Given the description of an element on the screen output the (x, y) to click on. 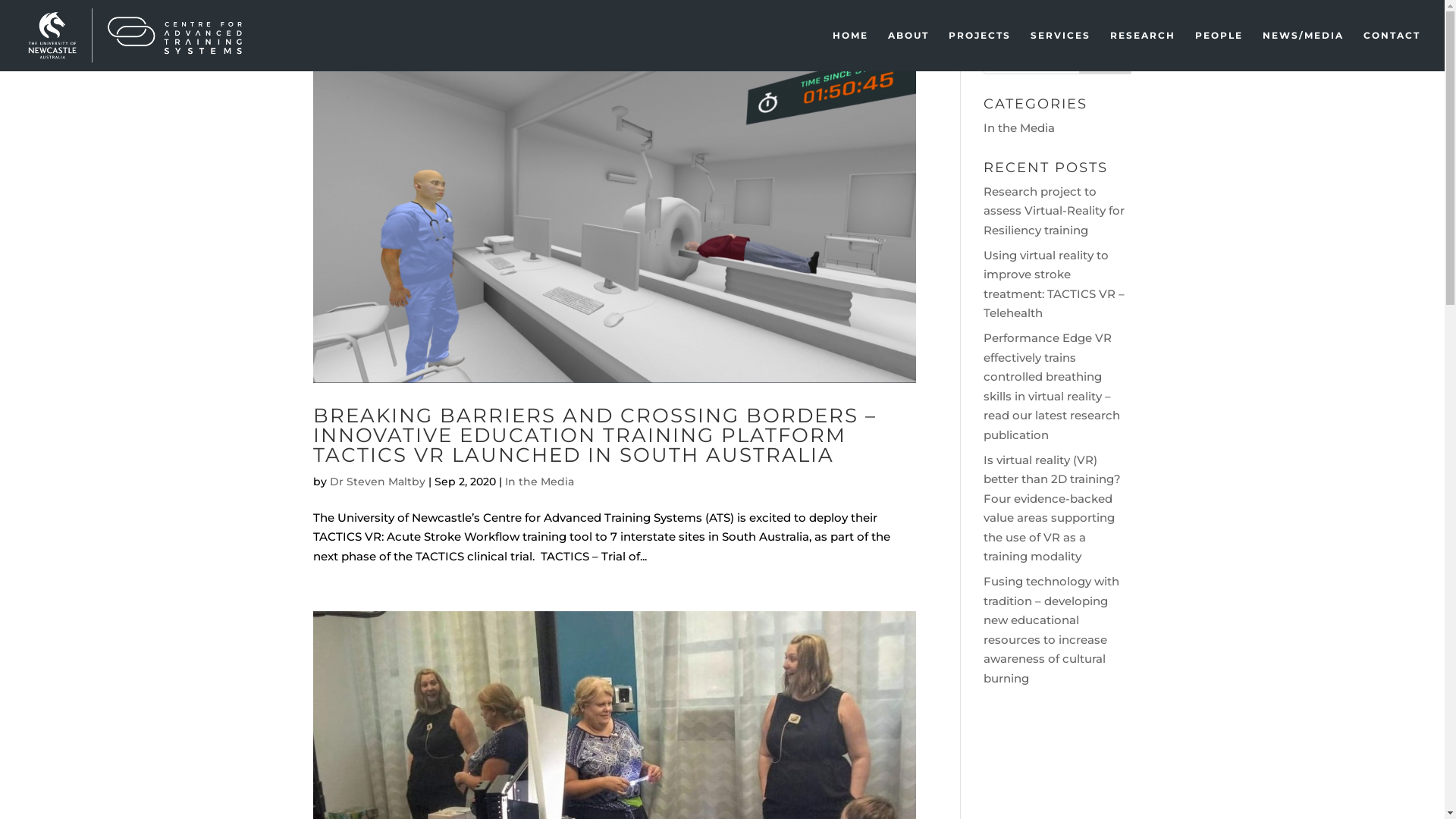
ABOUT Element type: text (908, 50)
In the Media Element type: text (1018, 127)
HOME Element type: text (850, 50)
RESEARCH Element type: text (1142, 50)
PROJECTS Element type: text (979, 50)
Search Element type: text (1105, 58)
NEWS/MEDIA Element type: text (1302, 50)
In the Media Element type: text (539, 481)
Dr Steven Maltby Element type: text (376, 481)
SERVICES Element type: text (1060, 50)
CONTACT Element type: text (1391, 50)
PEOPLE Element type: text (1218, 50)
